Given the description of an element on the screen output the (x, y) to click on. 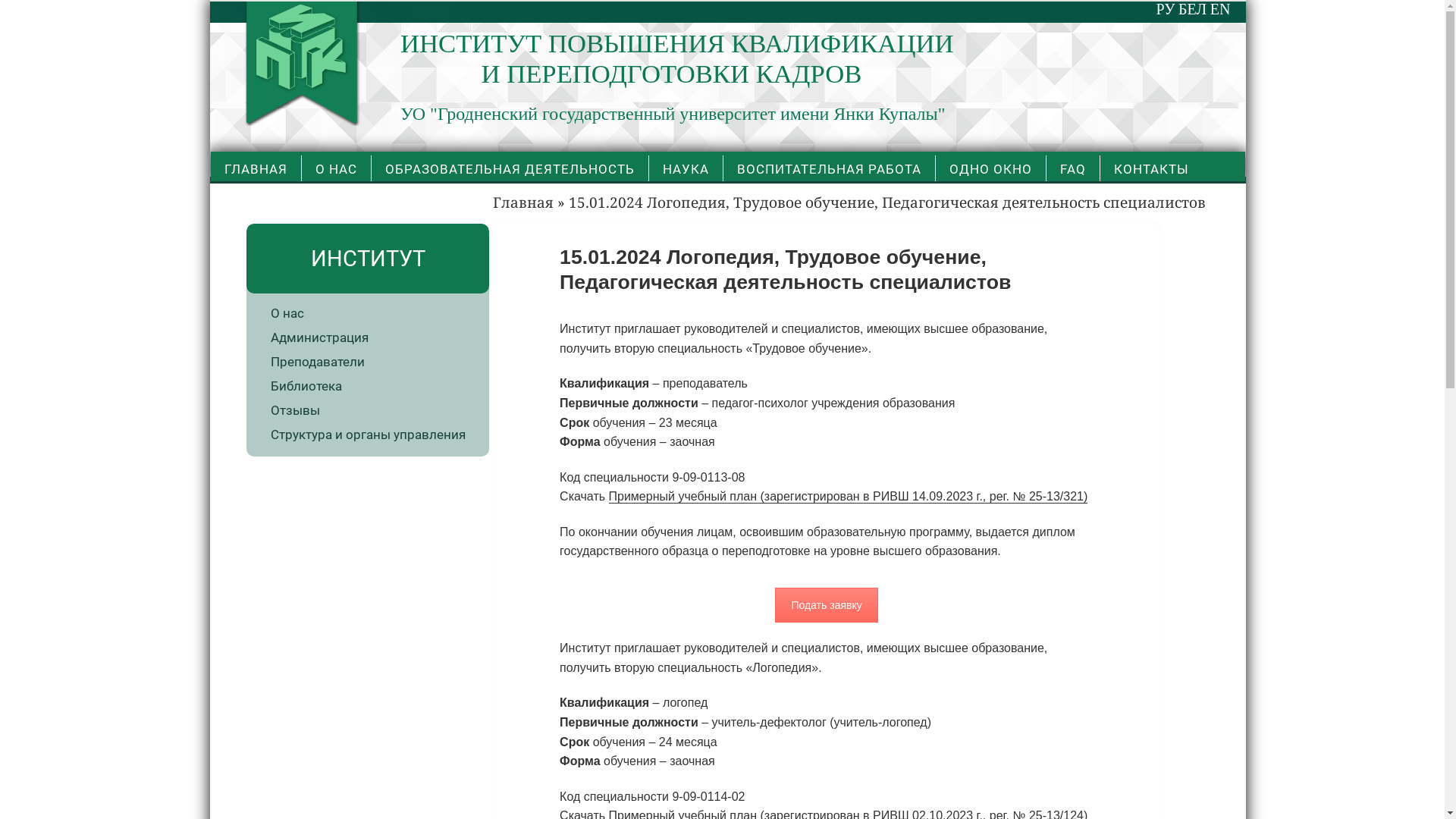
FAQ Element type: text (1072, 168)
EN Element type: text (1220, 8)
